Given the description of an element on the screen output the (x, y) to click on. 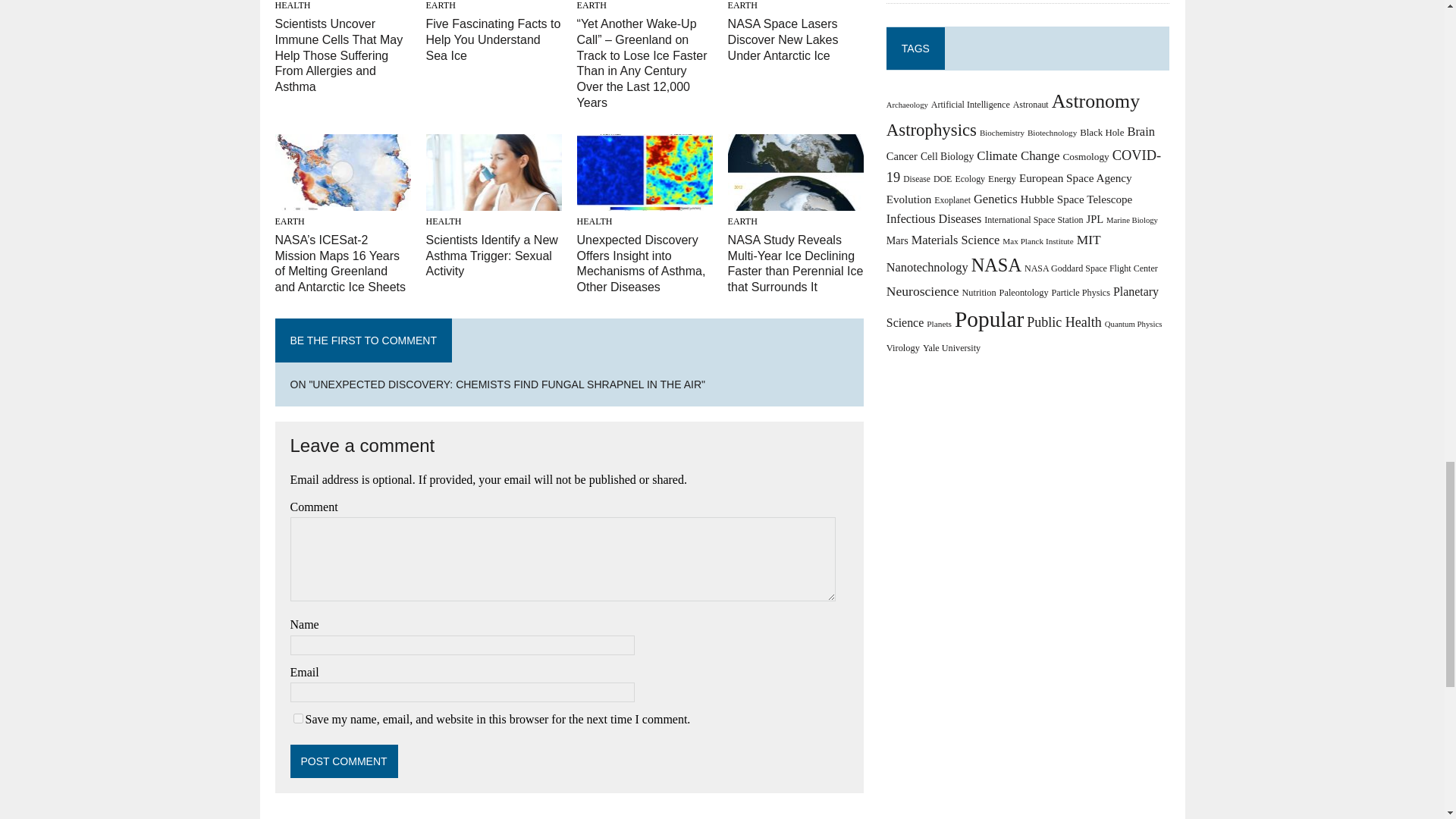
Post Comment (343, 761)
yes (297, 718)
